Given the description of an element on the screen output the (x, y) to click on. 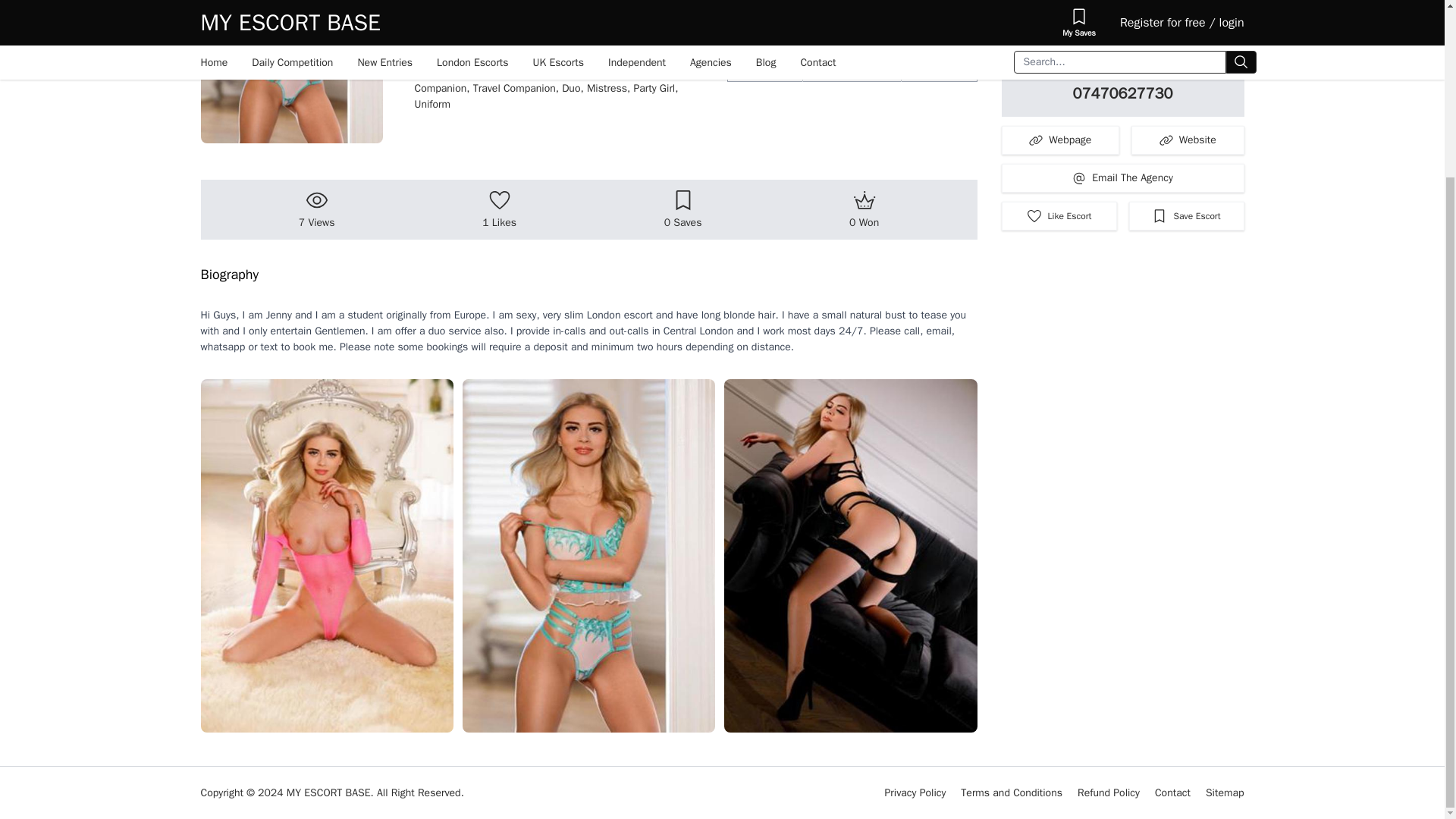
Duo (574, 88)
Uniform (431, 103)
Email The Agency (1122, 177)
Party Girl (655, 88)
Refund Policy (1108, 792)
Like Escort (1058, 215)
Website (1187, 140)
Terms and Conditions (1011, 792)
Domination (614, 72)
Massage (438, 72)
Mistress (609, 88)
Save Escort (1185, 215)
Webpage (1060, 140)
Contact (1172, 792)
Watch Video (1122, 23)
